Given the description of an element on the screen output the (x, y) to click on. 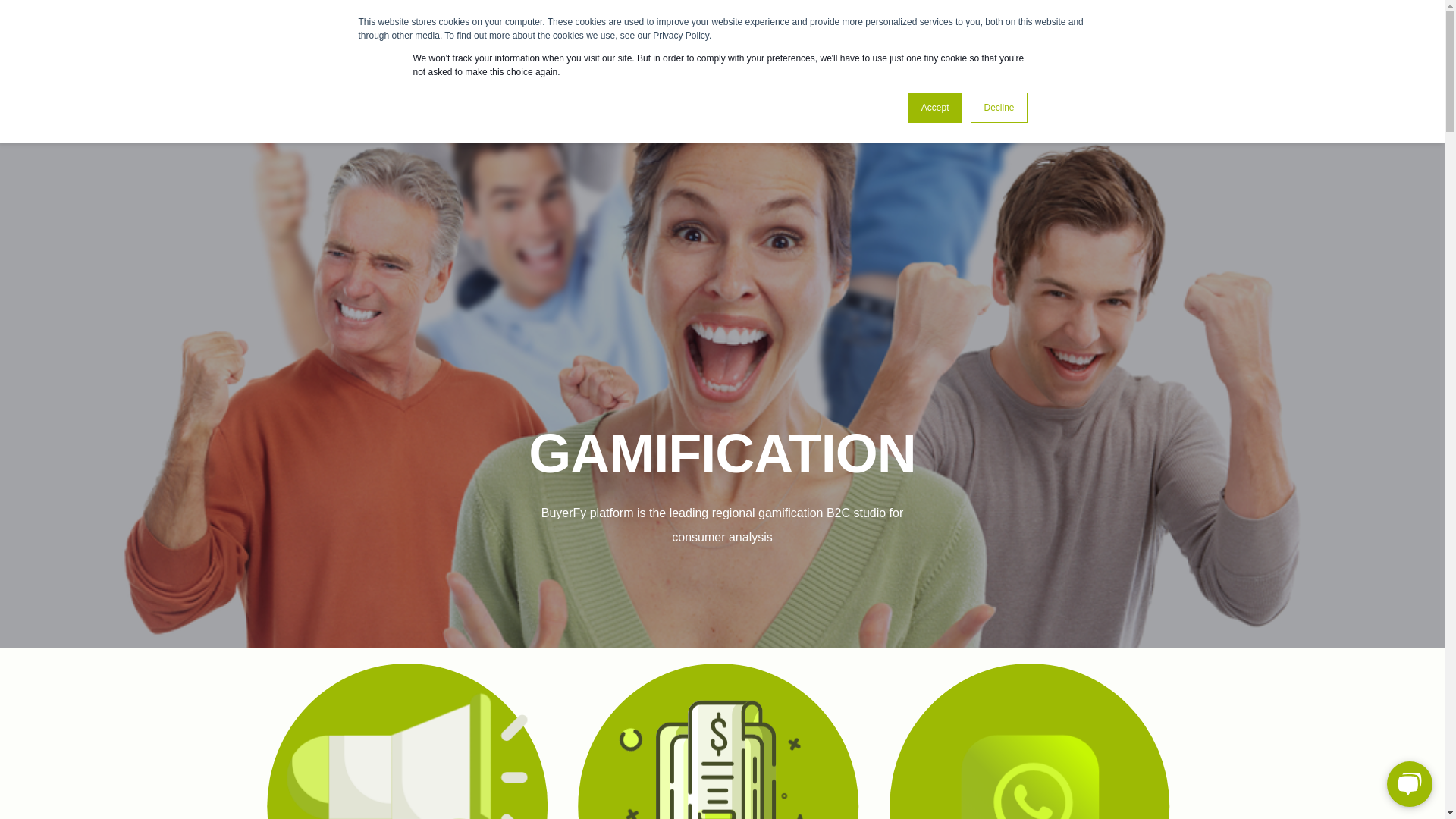
ANALYTICS (667, 74)
CONSULTING (770, 74)
Blog (171, 20)
Contact (280, 20)
Customer Support (100, 20)
GAMIFICATION (571, 74)
FREE CONSULTATION (1315, 75)
About Us (222, 20)
Global (331, 20)
Accept (935, 107)
Decline (998, 107)
SOLUTIONS (864, 74)
